Given the description of an element on the screen output the (x, y) to click on. 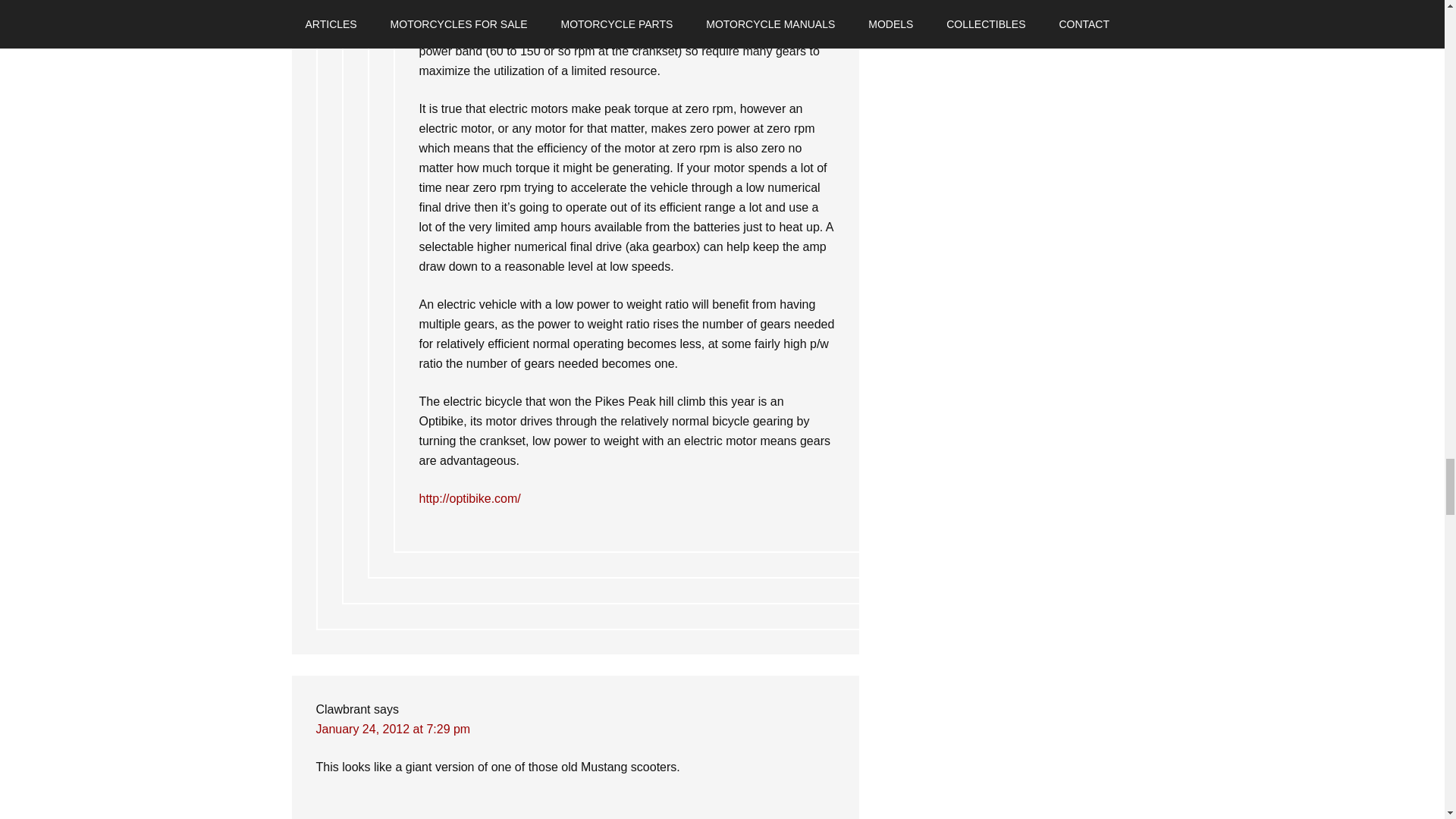
January 24, 2012 at 7:29 pm (392, 728)
